Given the description of an element on the screen output the (x, y) to click on. 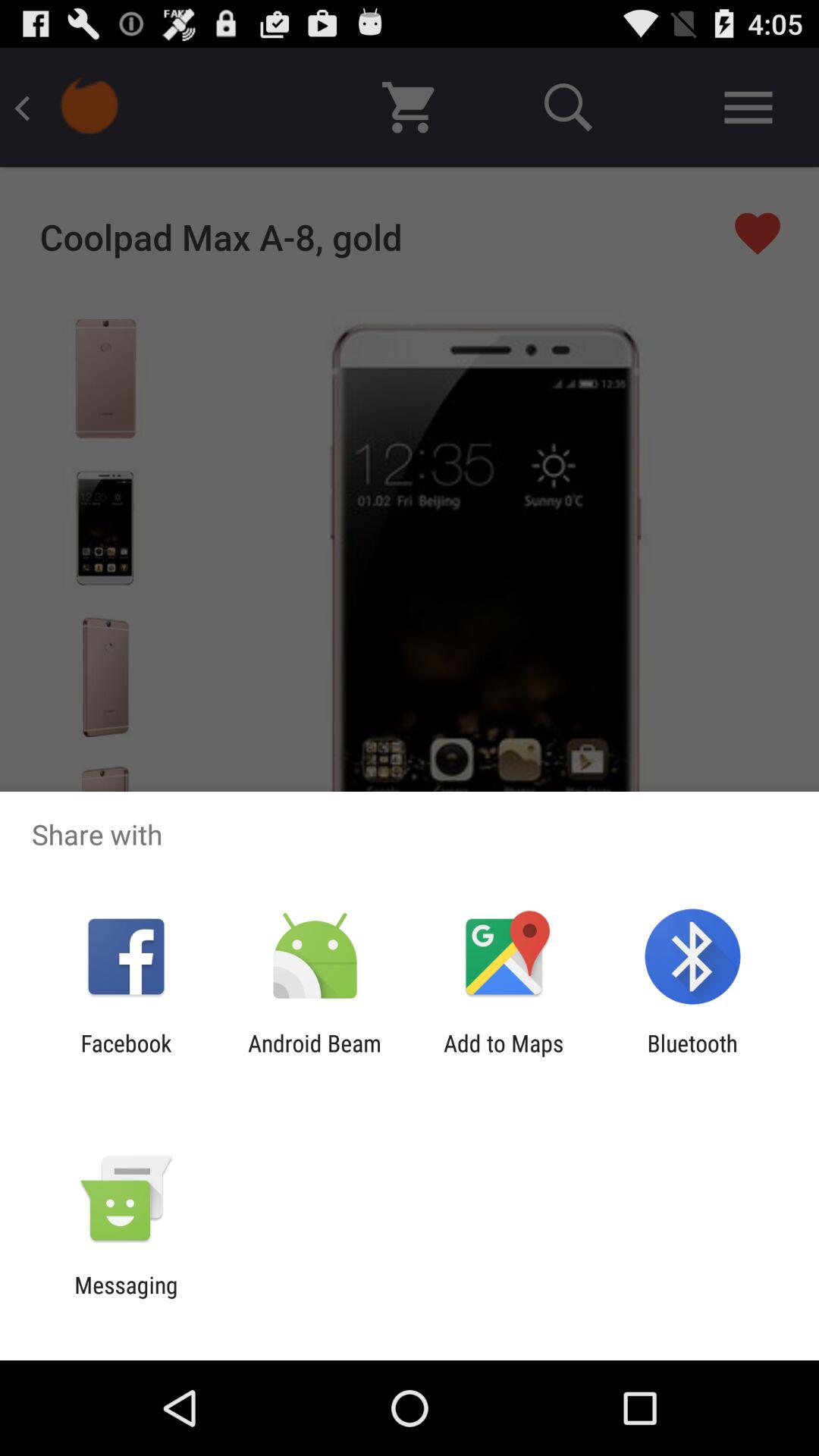
launch the app next to the add to maps (692, 1056)
